Given the description of an element on the screen output the (x, y) to click on. 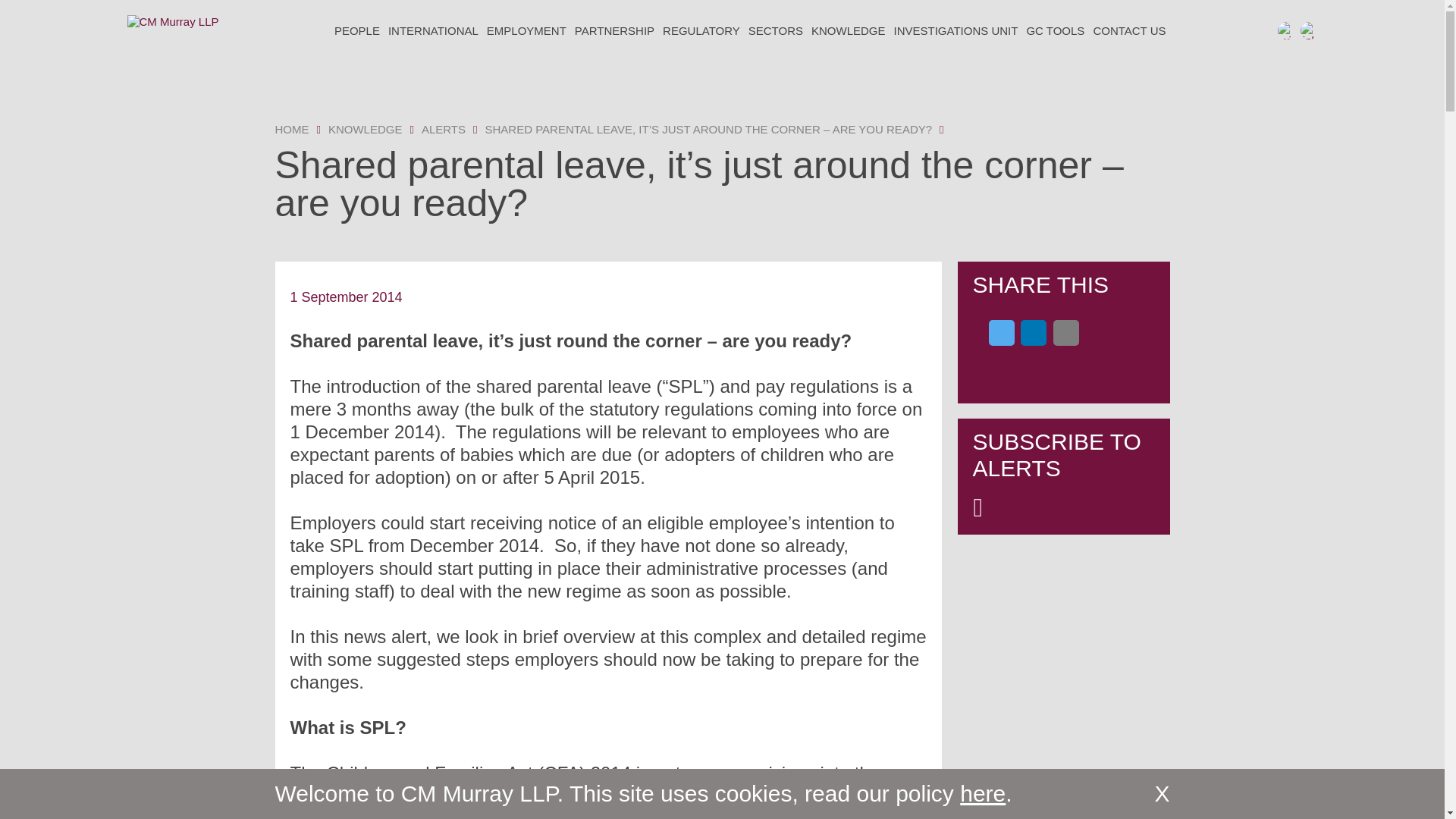
here (982, 793)
GC TOOLS (1054, 30)
Go to Knowledge. (366, 128)
PEOPLE (357, 30)
PARTNERSHIP (614, 30)
EMPLOYMENT (526, 30)
Go to the ALERTS type archives. (443, 128)
SECTORS (775, 30)
INTERNATIONAL (432, 30)
INVESTIGATIONS UNIT (955, 30)
